Given the description of an element on the screen output the (x, y) to click on. 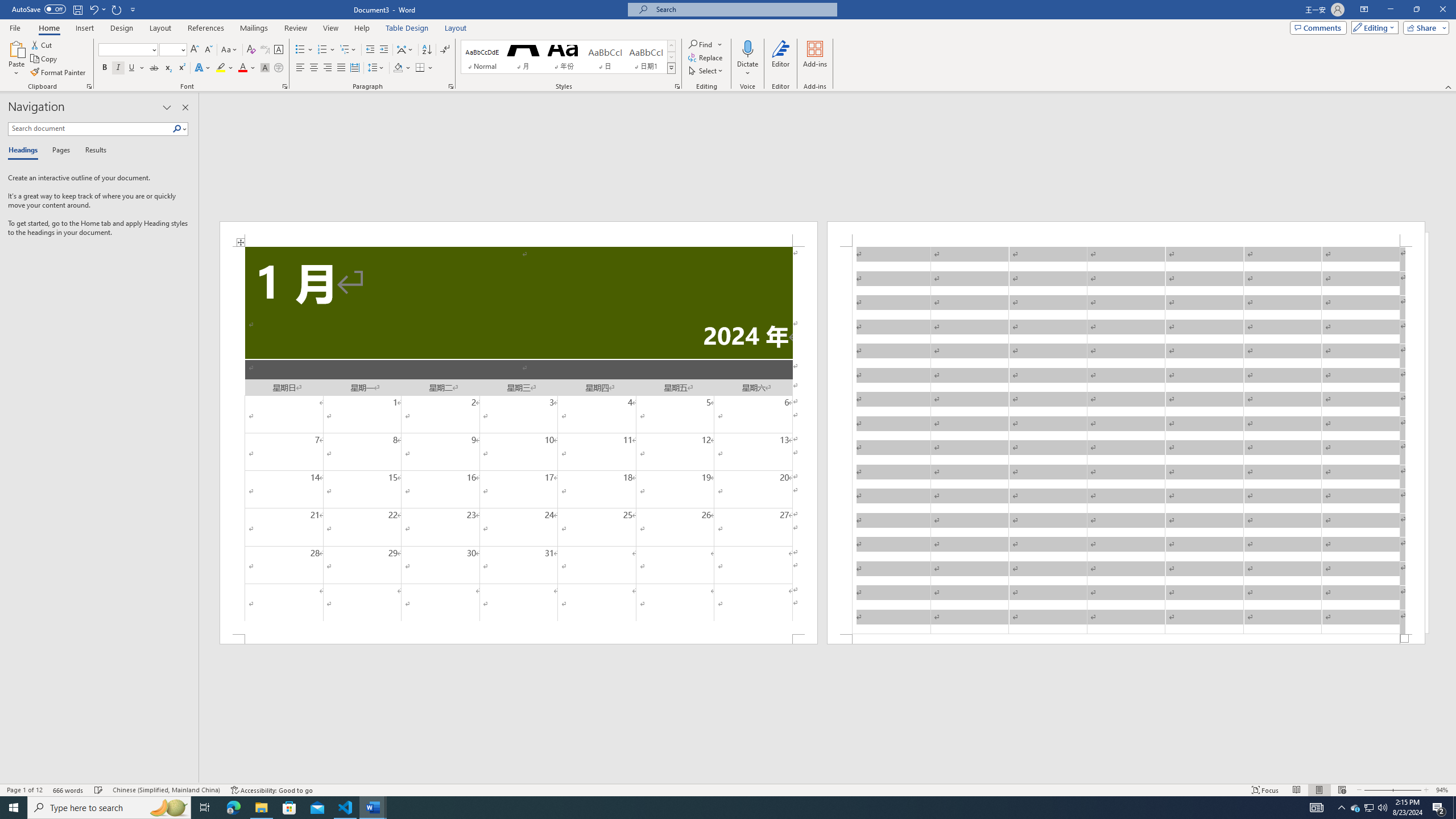
Row up (670, 45)
Headings (25, 150)
Shading (402, 67)
Phonetic Guide... (264, 49)
Align Left (300, 67)
Footer -Section 1- (1126, 638)
Decrease Indent (370, 49)
Center (313, 67)
Grow Font (193, 49)
